Given the description of an element on the screen output the (x, y) to click on. 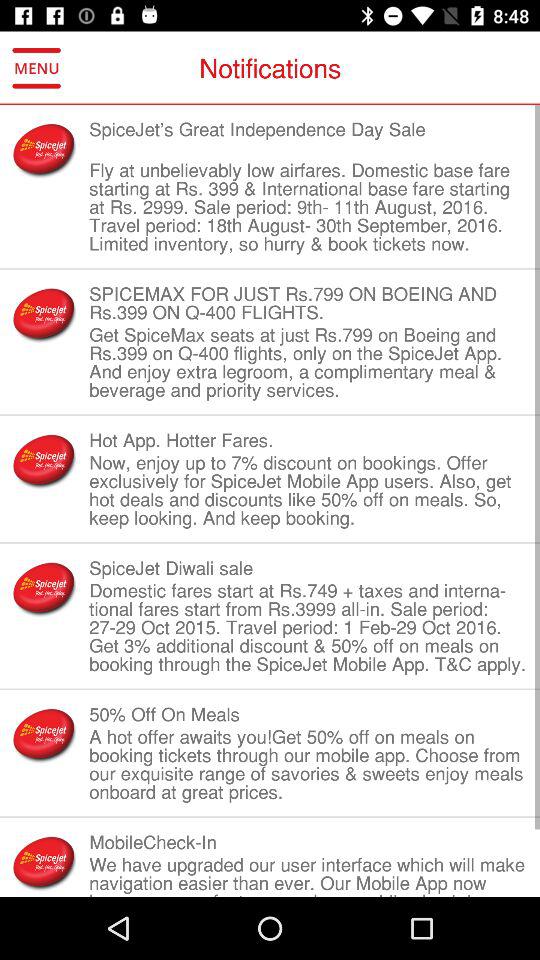
select fly at unbelievably item (307, 207)
